Given the description of an element on the screen output the (x, y) to click on. 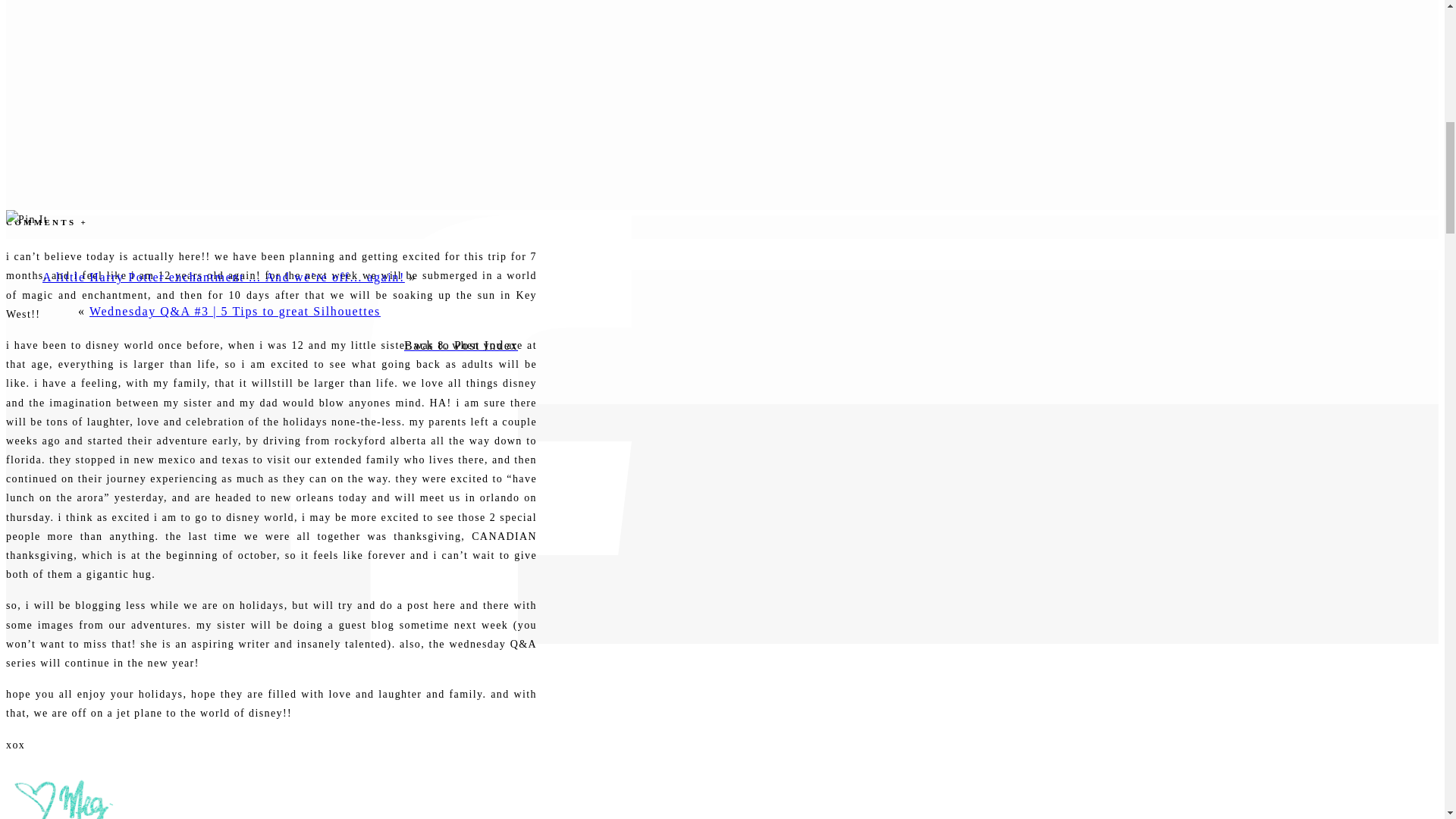
Pin It (26, 219)
signoffblog (61, 792)
Back to Post Index (460, 345)
